Given the description of an element on the screen output the (x, y) to click on. 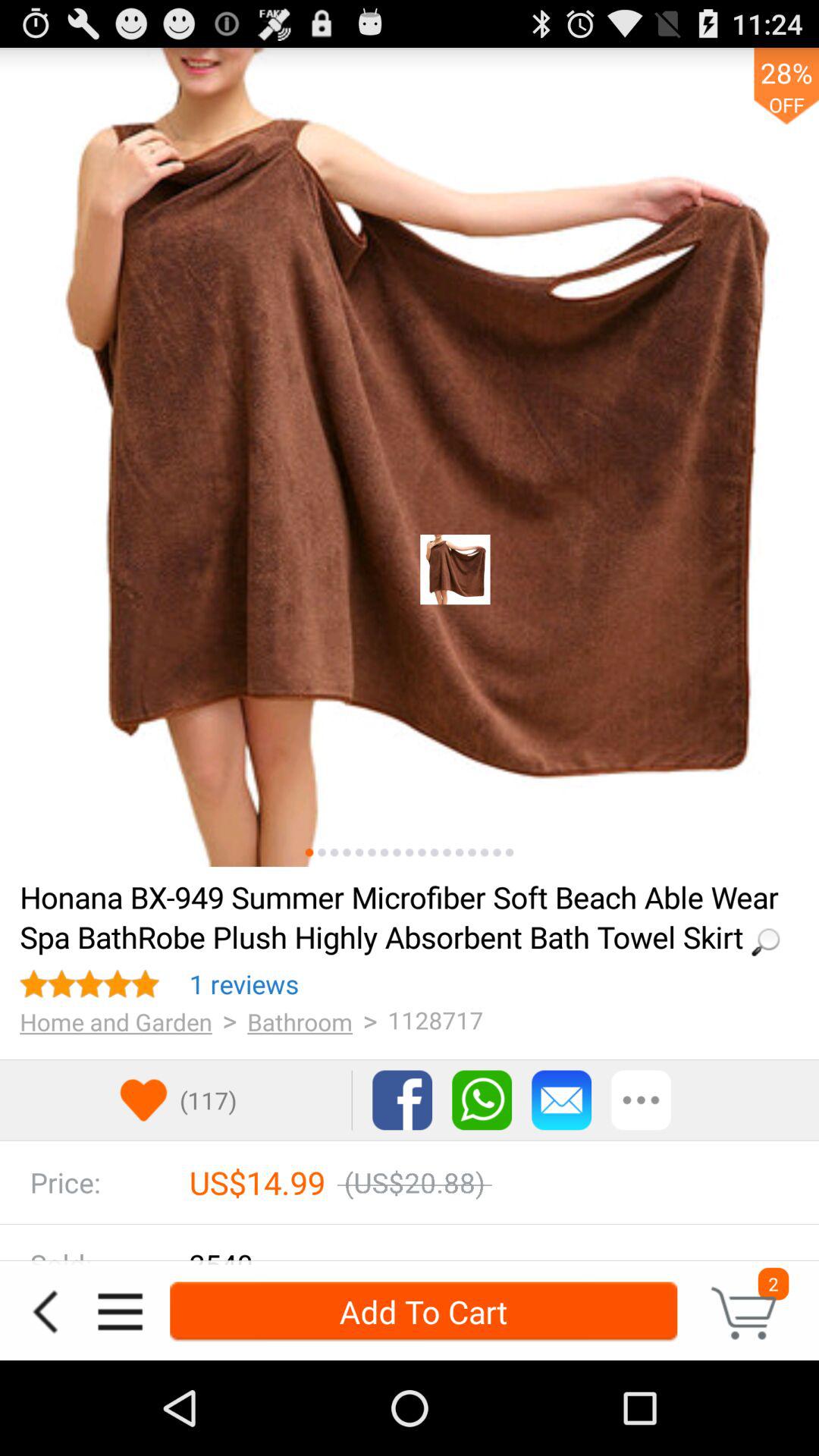
jump to the loading... (403, 916)
